Given the description of an element on the screen output the (x, y) to click on. 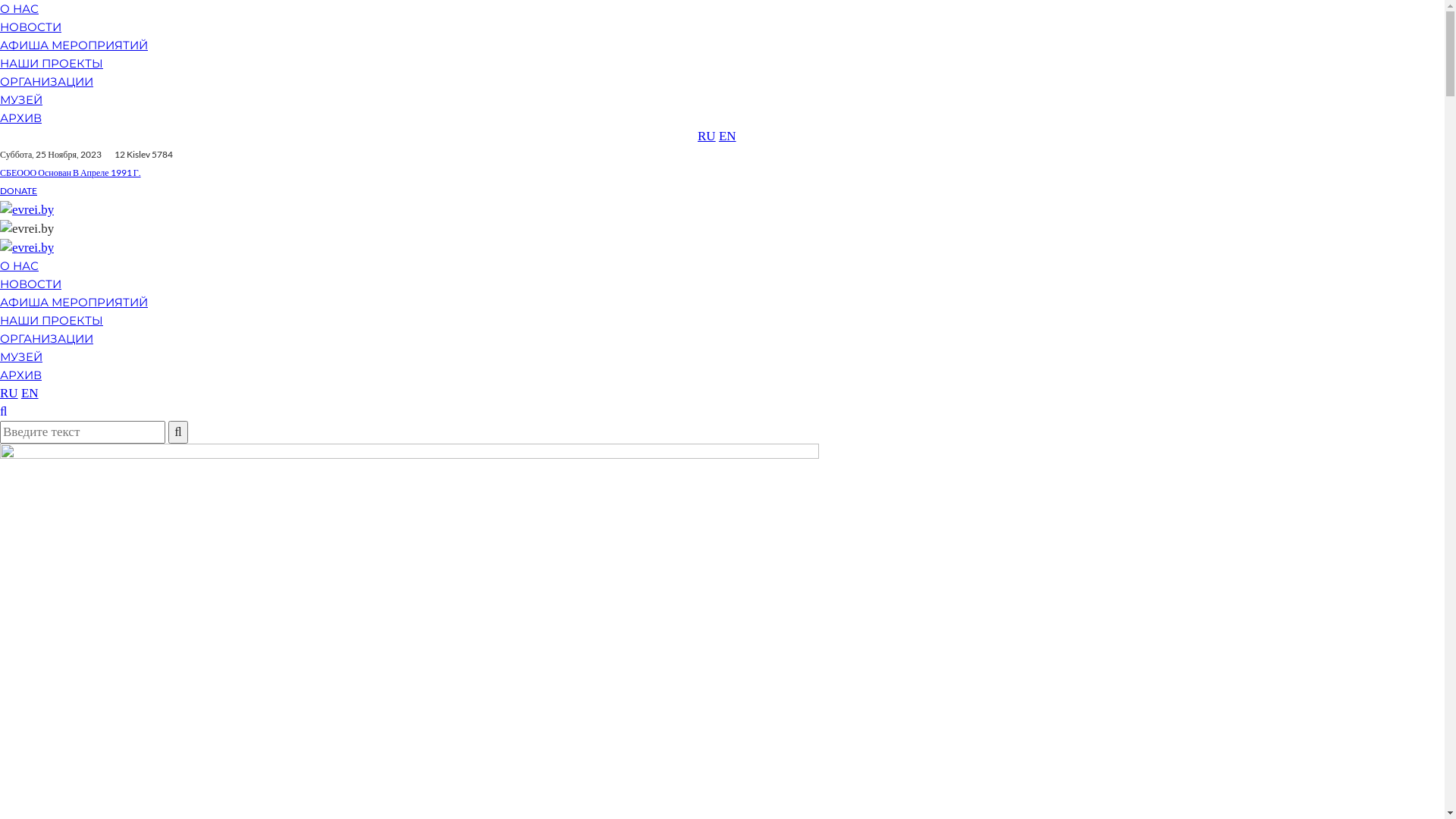
EN Element type: text (29, 393)
evrei.by Element type: hover (26, 208)
RU Element type: text (9, 393)
RU Element type: text (706, 136)
Search Element type: hover (3, 411)
EN Element type: text (727, 136)
DONATE Element type: text (18, 190)
evrei.by Element type: hover (26, 246)
